Given the description of an element on the screen output the (x, y) to click on. 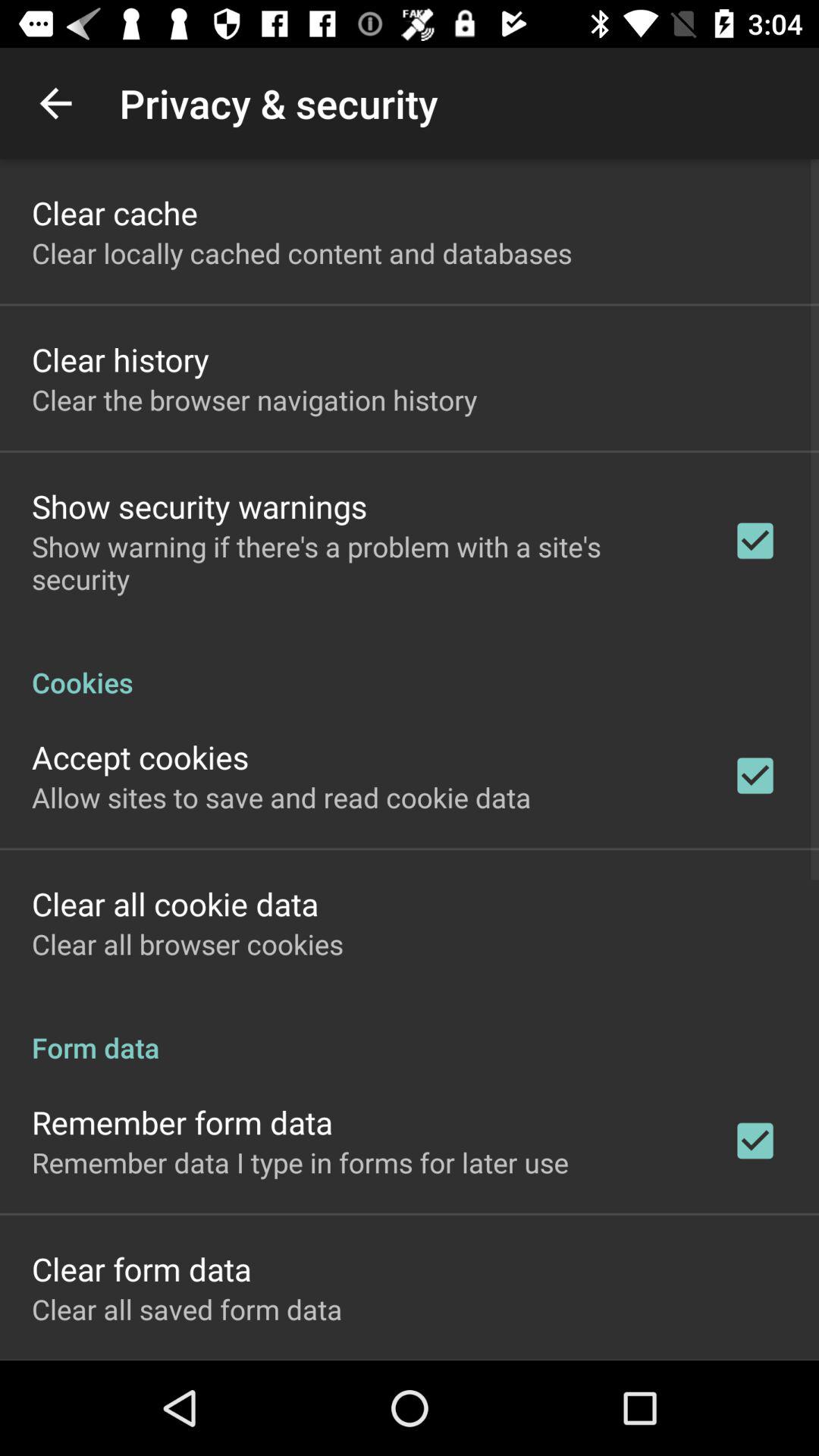
turn off clear locally cached (301, 252)
